Given the description of an element on the screen output the (x, y) to click on. 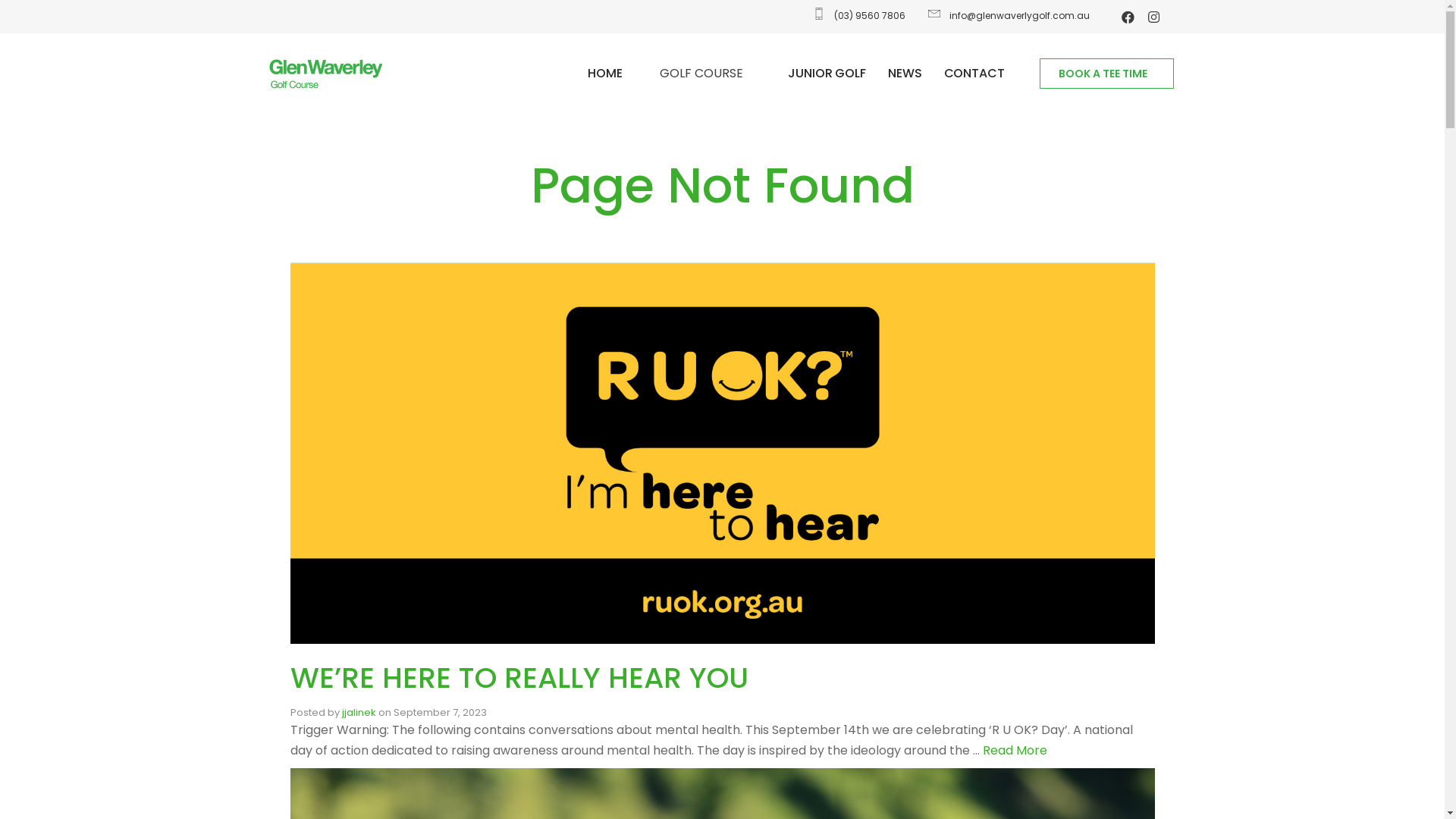
CONTACT Element type: text (974, 73)
HOME Element type: text (604, 73)
info@glenwaverlygolf.com.au Element type: text (1007, 15)
JUNIOR GOLF Element type: text (826, 73)
NEWS Element type: text (905, 73)
jjalinek Element type: text (358, 712)
(03) 9560 7806 Element type: text (857, 15)
GOLF COURSE Element type: text (704, 73)
Read More Element type: text (1014, 750)
BOOK A TEE TIME Element type: text (1106, 73)
